Given the description of an element on the screen output the (x, y) to click on. 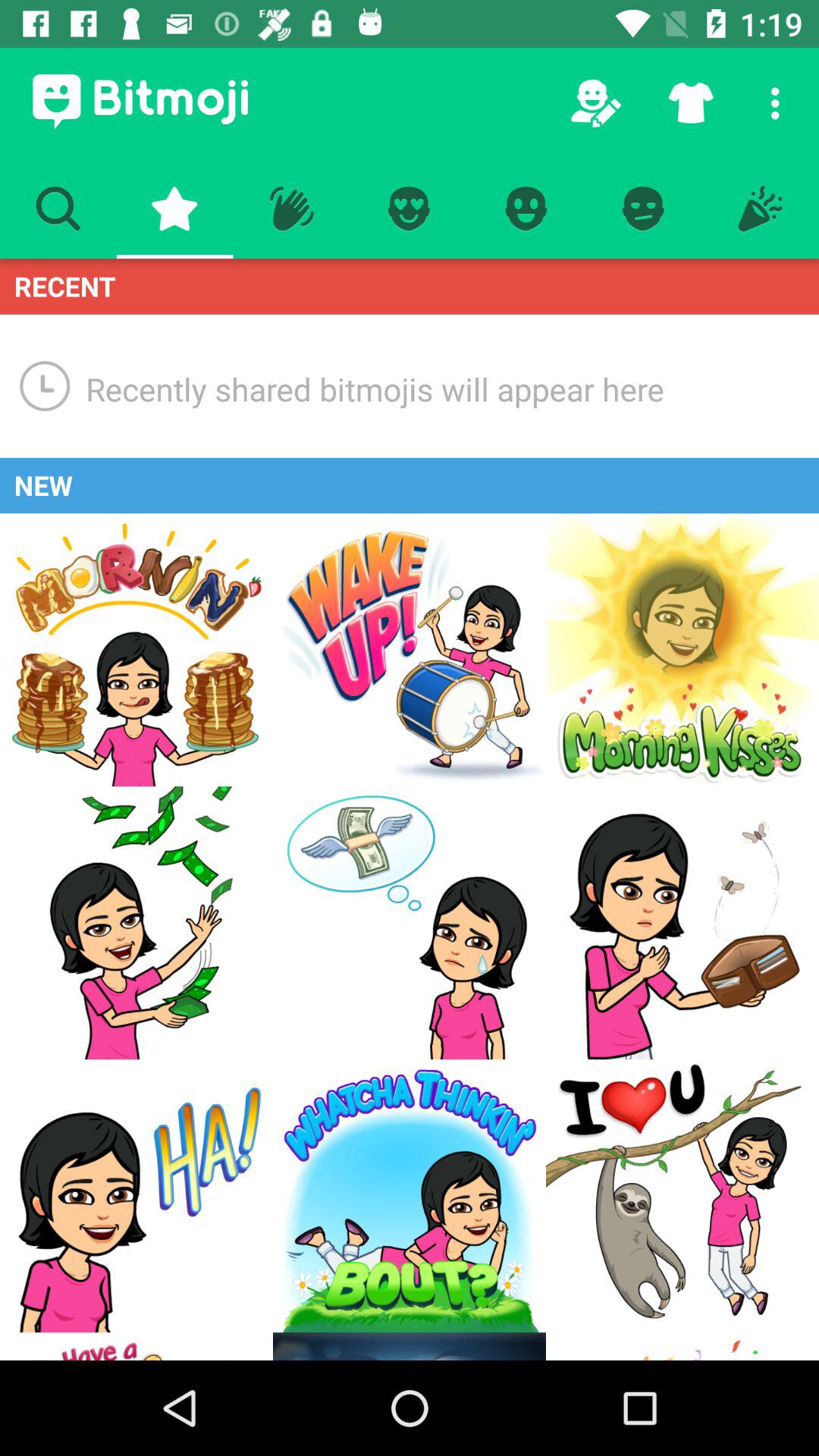
see image (136, 922)
